Given the description of an element on the screen output the (x, y) to click on. 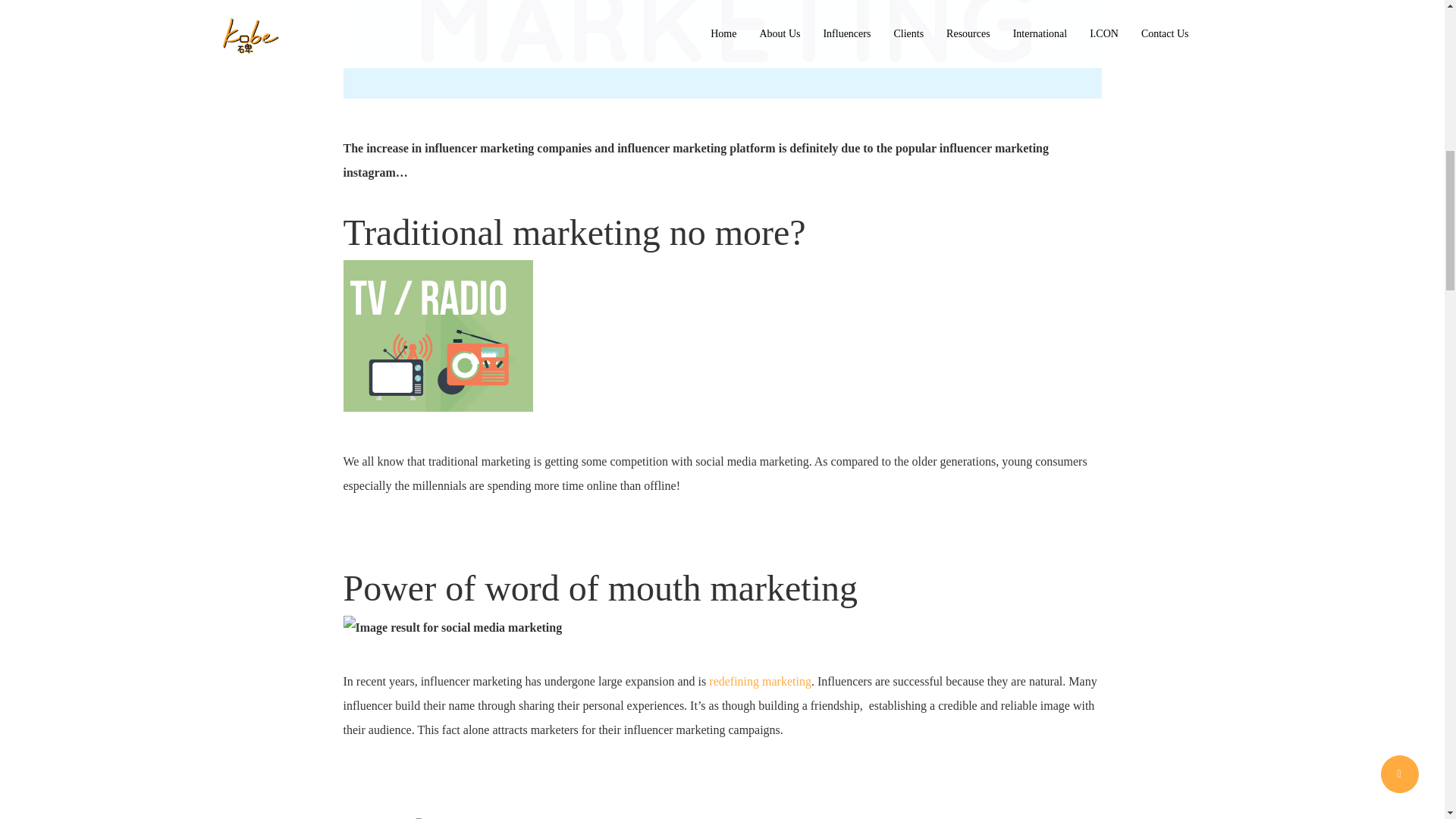
redefining marketing (759, 680)
